Given the description of an element on the screen output the (x, y) to click on. 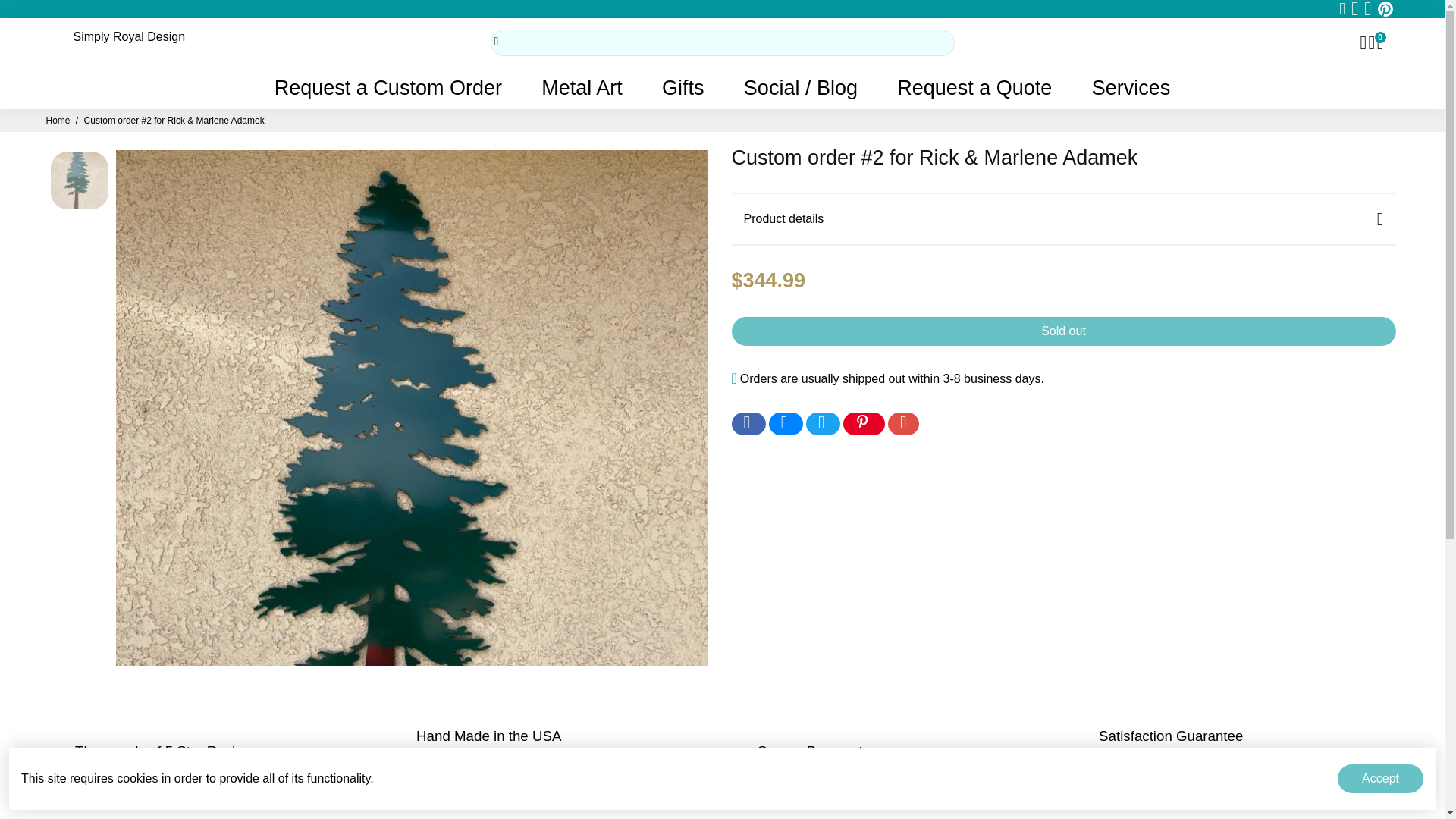
Simply Royal Design (128, 37)
Metal Art (581, 87)
Request a Custom Order (387, 87)
Gifts (682, 87)
Home (57, 120)
